Given the description of an element on the screen output the (x, y) to click on. 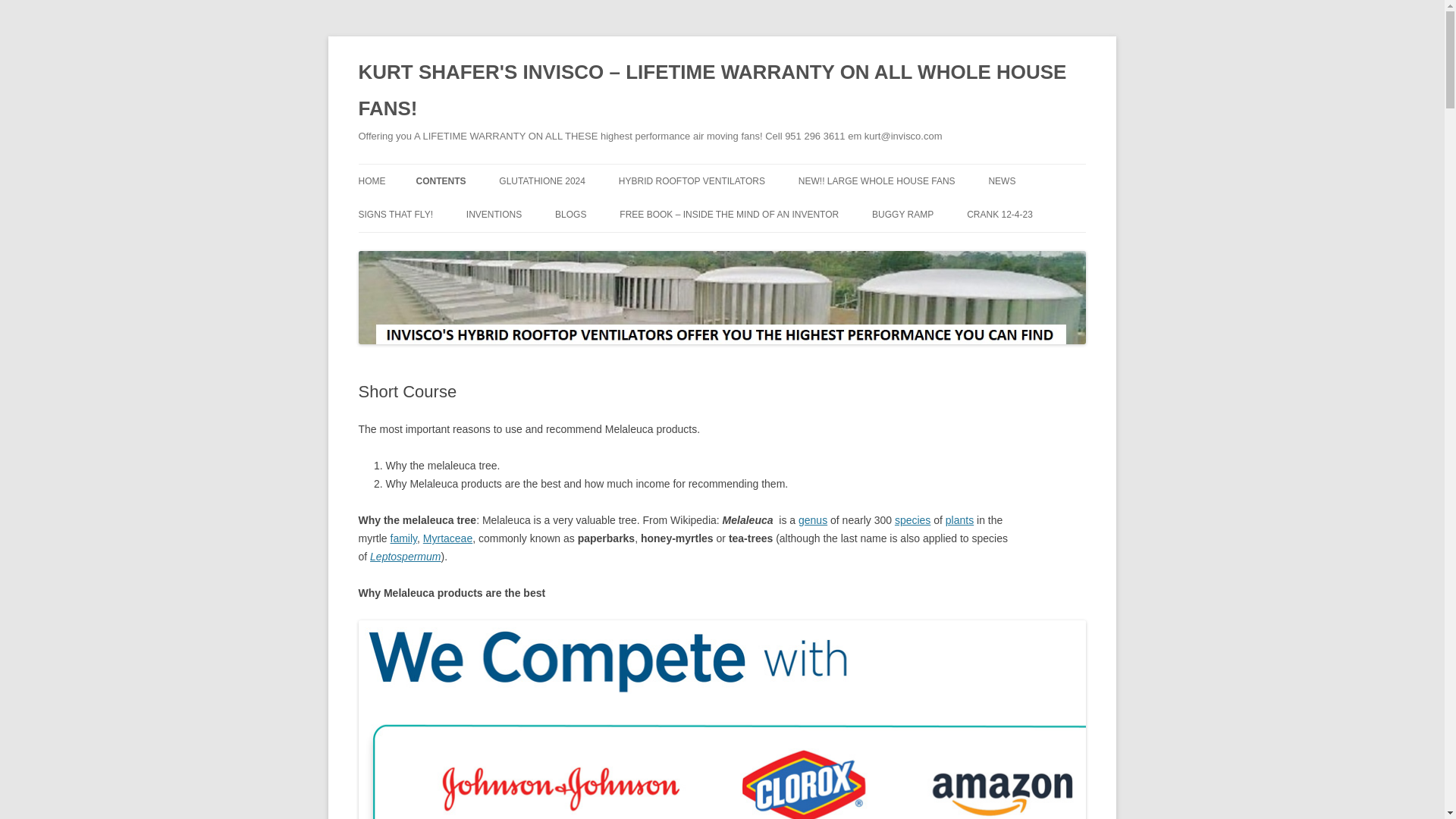
CONTENTS (439, 181)
AUDIOBOOKS (490, 213)
